Given the description of an element on the screen output the (x, y) to click on. 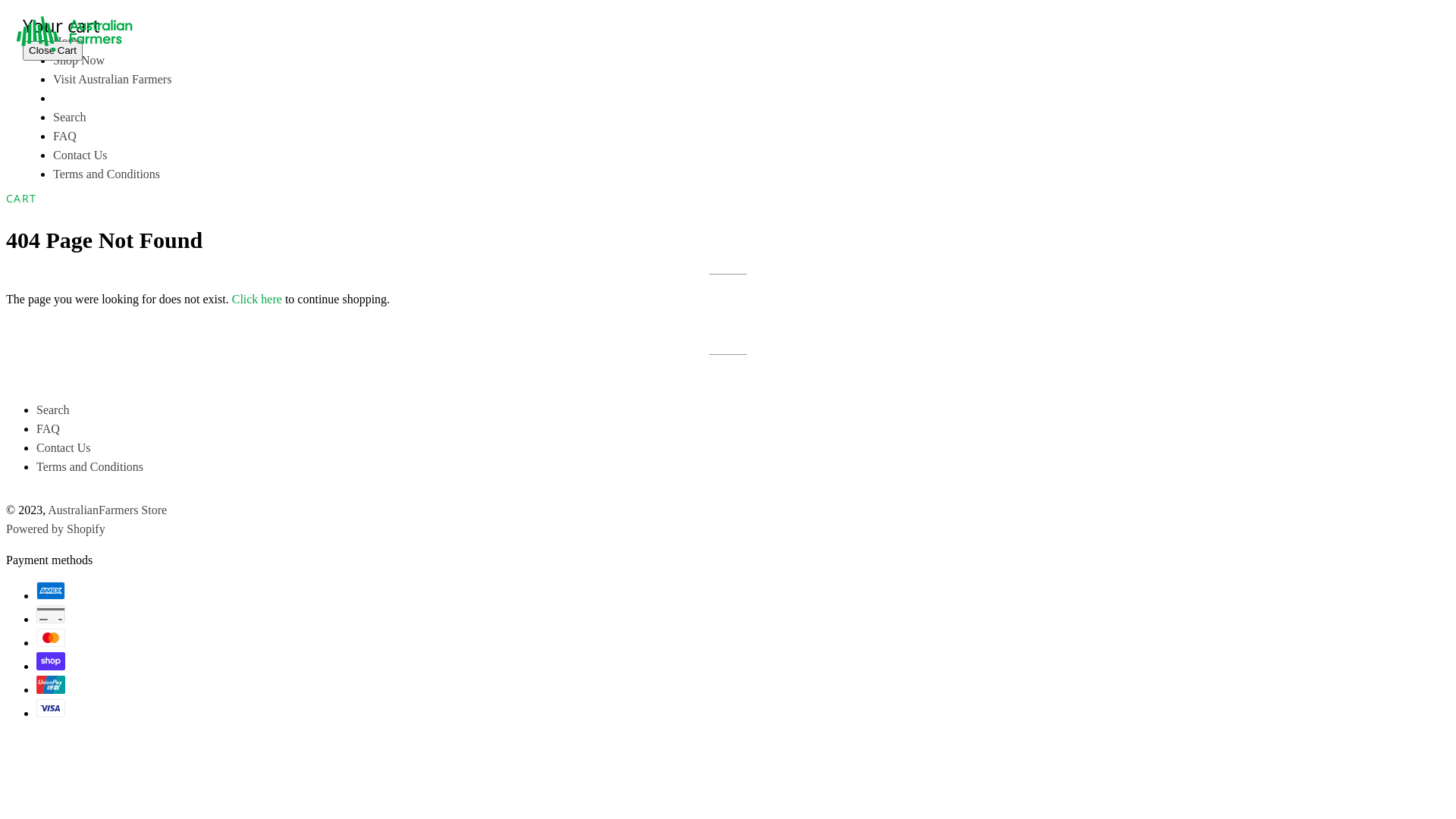
Search Element type: text (69, 116)
Visit Australian Farmers Element type: text (112, 78)
AustralianFarmers Store Element type: text (106, 509)
Terms and Conditions Element type: text (89, 466)
CART Element type: text (21, 198)
FAQ Element type: text (64, 135)
Contact Us Element type: text (63, 447)
Contact Us Element type: text (80, 154)
Click here Element type: text (257, 298)
Powered by Shopify Element type: text (55, 528)
Close Cart Element type: text (52, 50)
FAQ Element type: text (47, 428)
Search Element type: text (52, 409)
Shop Now Element type: text (78, 59)
Home Element type: text (67, 40)
Terms and Conditions Element type: text (106, 173)
